Given the description of an element on the screen output the (x, y) to click on. 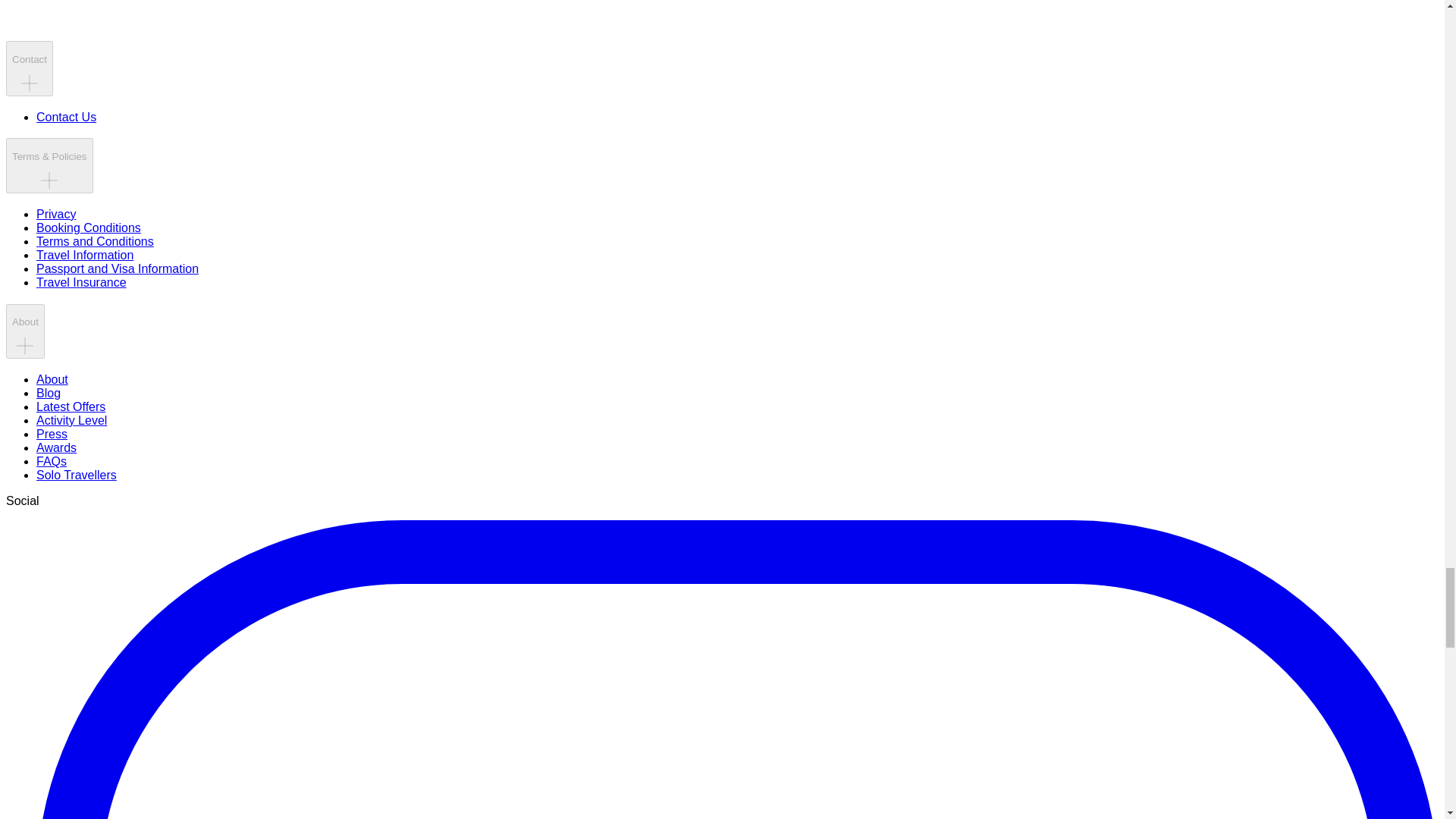
Privacy (55, 214)
Passport and Visa Information (117, 268)
Contact (28, 68)
Terms and Conditions (95, 241)
Contact Us (66, 116)
Booking Conditions (88, 227)
About (52, 379)
Travel Information (84, 254)
About (25, 331)
Travel Insurance (81, 282)
